Given the description of an element on the screen output the (x, y) to click on. 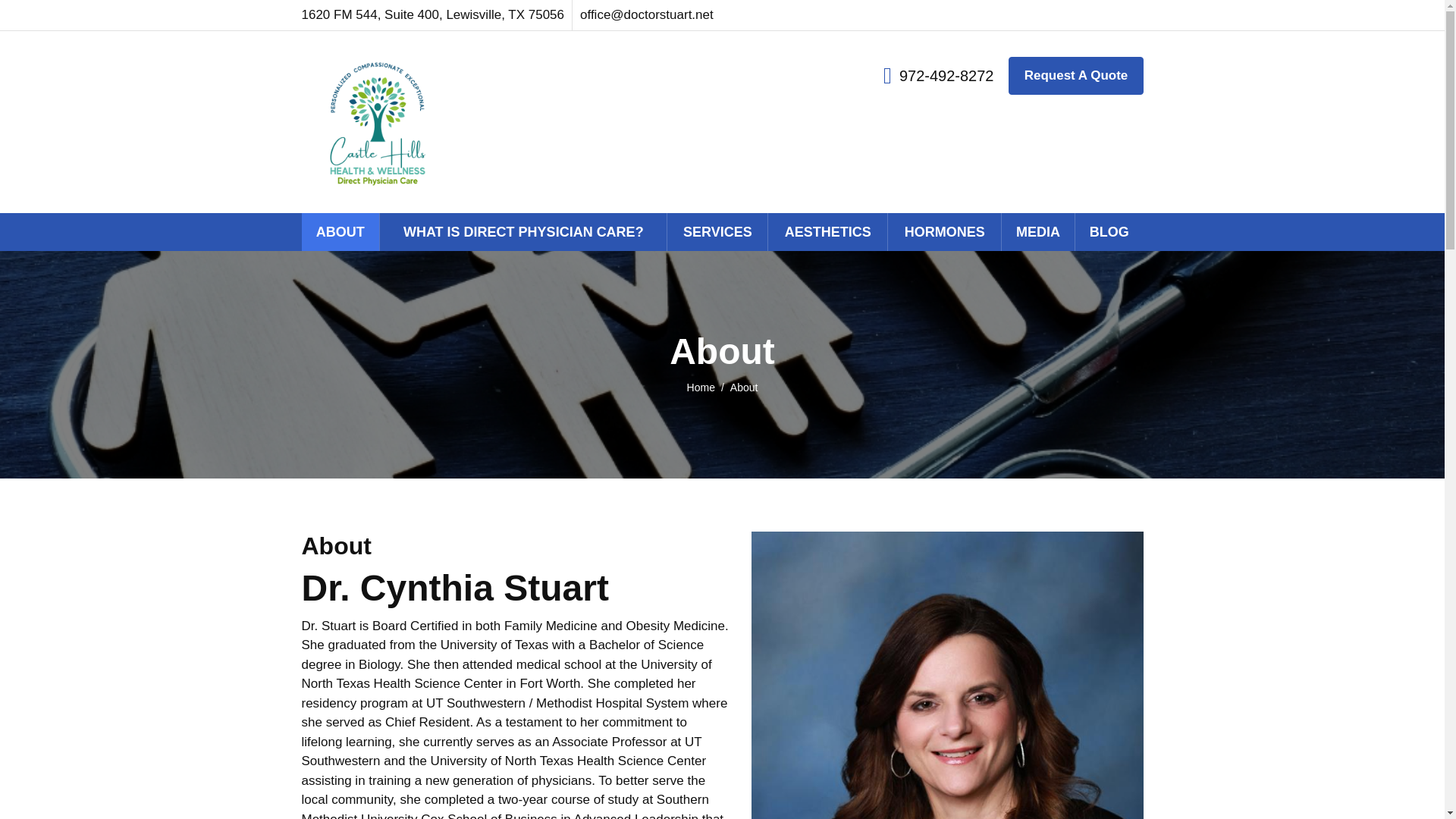
MEDIA (1037, 231)
SERVICES (716, 231)
HORMONES (944, 231)
Request A Quote (1075, 75)
Dr. Cynthia Stuart (376, 120)
WHAT IS DIRECT PHYSICIAN CARE? (523, 231)
972-492-8272 (938, 75)
Home (708, 387)
BLOG (1108, 231)
Go to Dr. Cynthia Stuart. (708, 387)
ABOUT (340, 231)
AESTHETICS (827, 231)
